Given the description of an element on the screen output the (x, y) to click on. 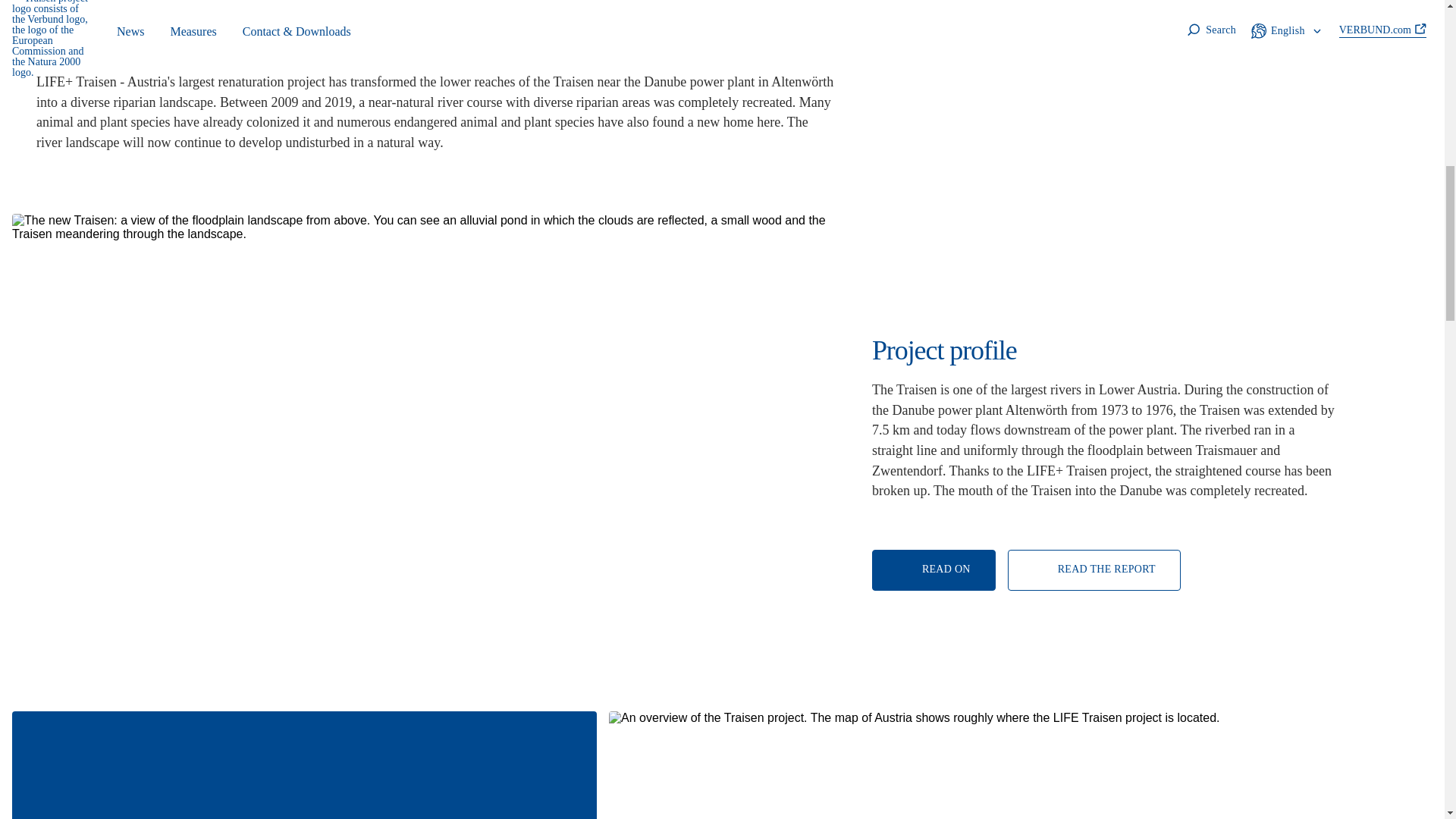
READ ON (933, 569)
READ THE REPORT (1093, 569)
